Given the description of an element on the screen output the (x, y) to click on. 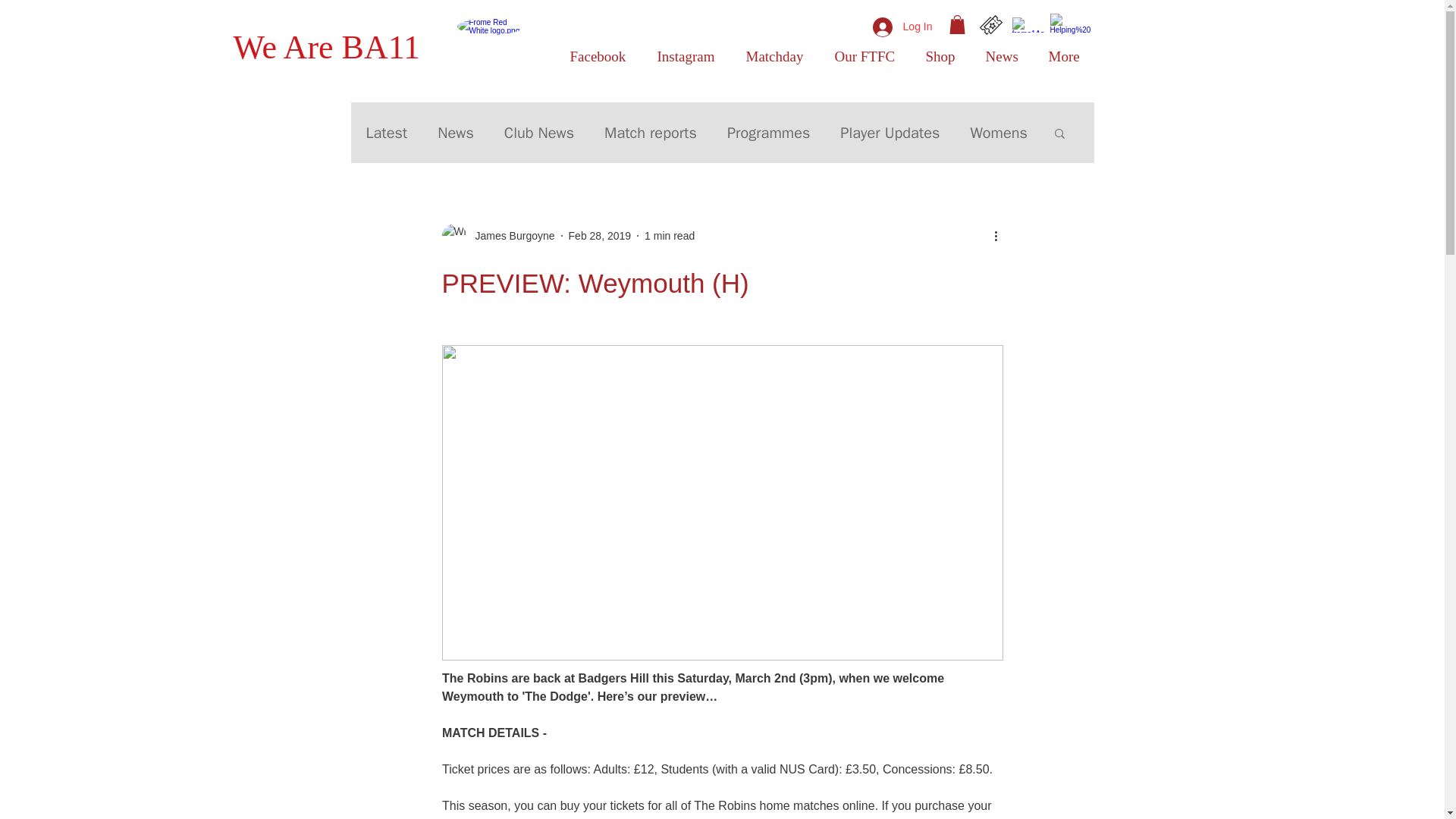
Feb 28, 2019 (600, 235)
Log In (902, 26)
Instagram (690, 56)
James Burgoyne (509, 236)
Report it (1069, 26)
Shop (944, 56)
1 min read (669, 235)
Matchday (777, 56)
Facebook (601, 56)
50:50 Draw (1027, 24)
